Given the description of an element on the screen output the (x, y) to click on. 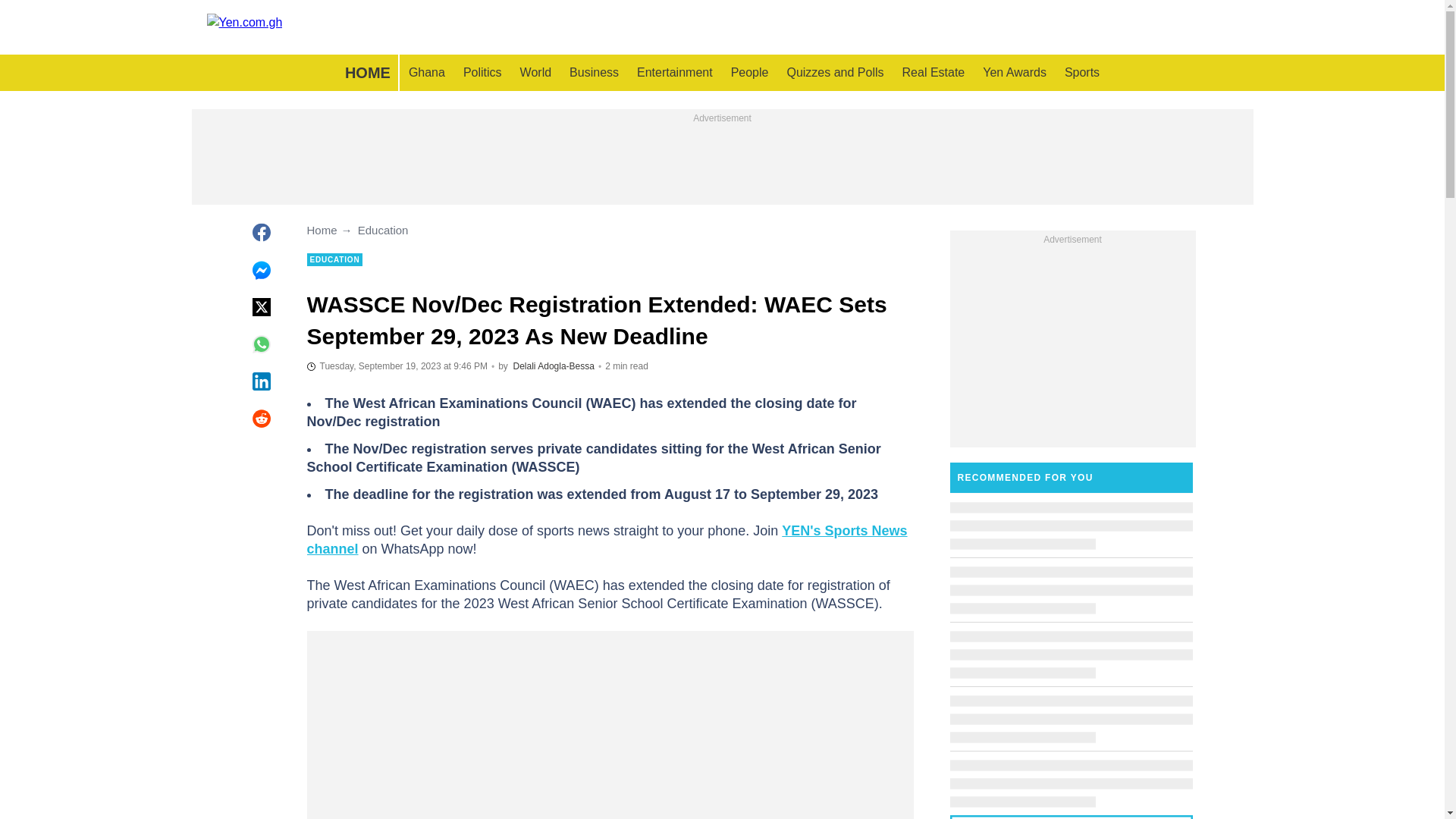
Ghana (426, 72)
Yen Awards (1014, 72)
Sports (1081, 72)
2023-09-19T21:46:08Z (395, 366)
World (535, 72)
Real Estate (933, 72)
HOME (367, 72)
People (749, 72)
Author page (553, 366)
Quizzes and Polls (834, 72)
